Given the description of an element on the screen output the (x, y) to click on. 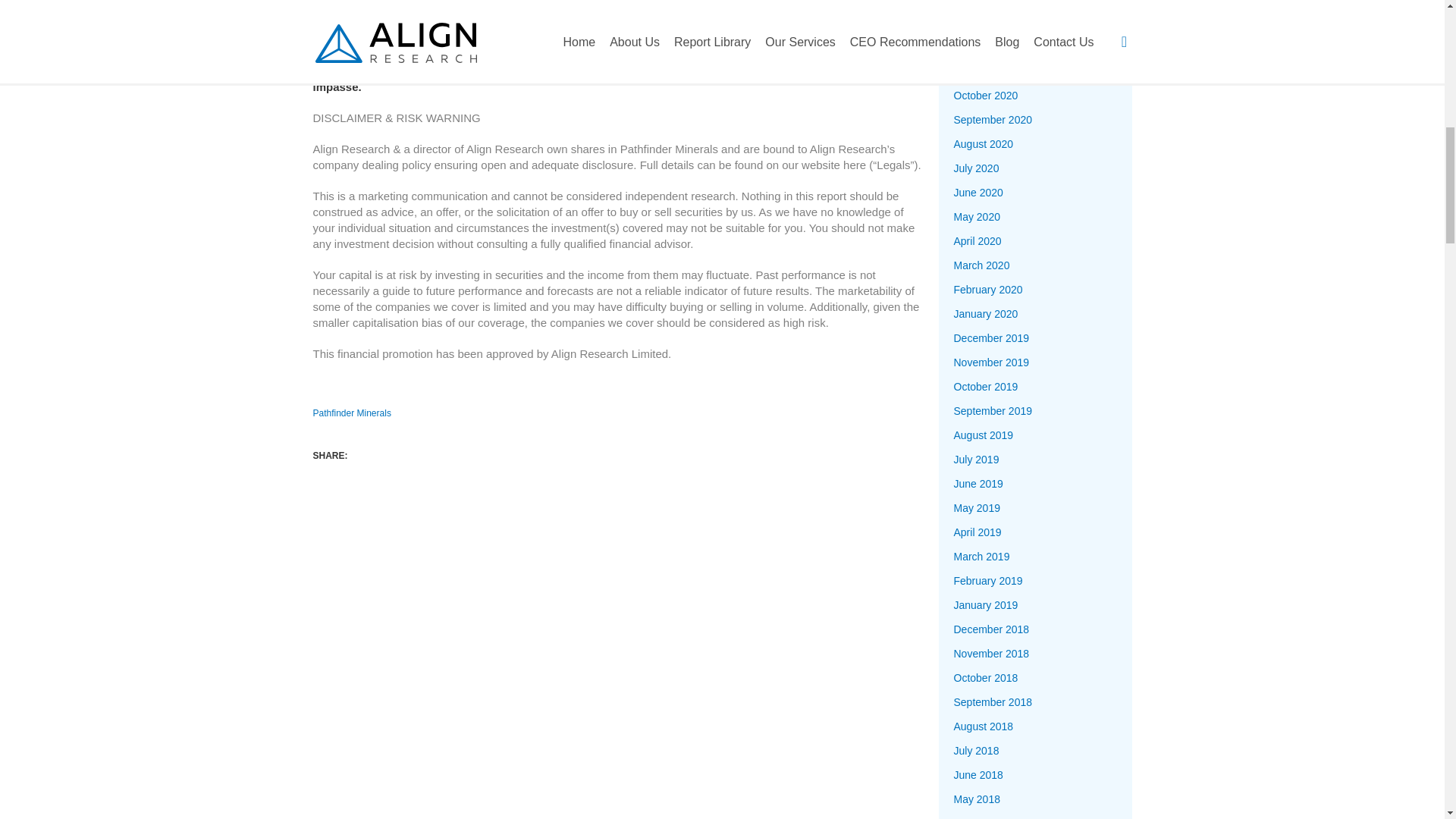
Pathfinder Minerals (351, 412)
